Given the description of an element on the screen output the (x, y) to click on. 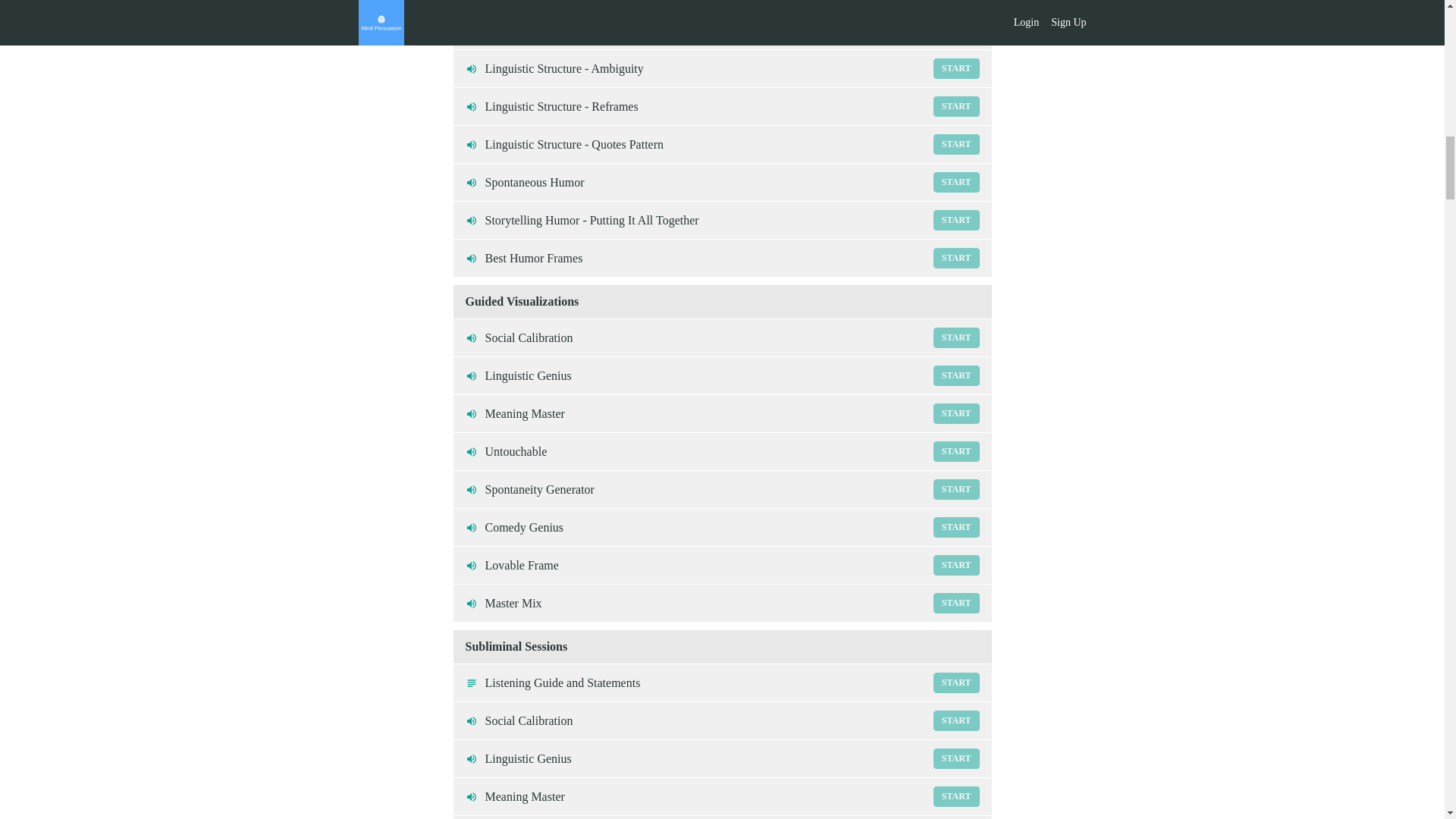
START (956, 489)
START (956, 181)
START (721, 682)
START (956, 68)
START (721, 602)
START (721, 527)
START (721, 30)
START (956, 602)
